Given the description of an element on the screen output the (x, y) to click on. 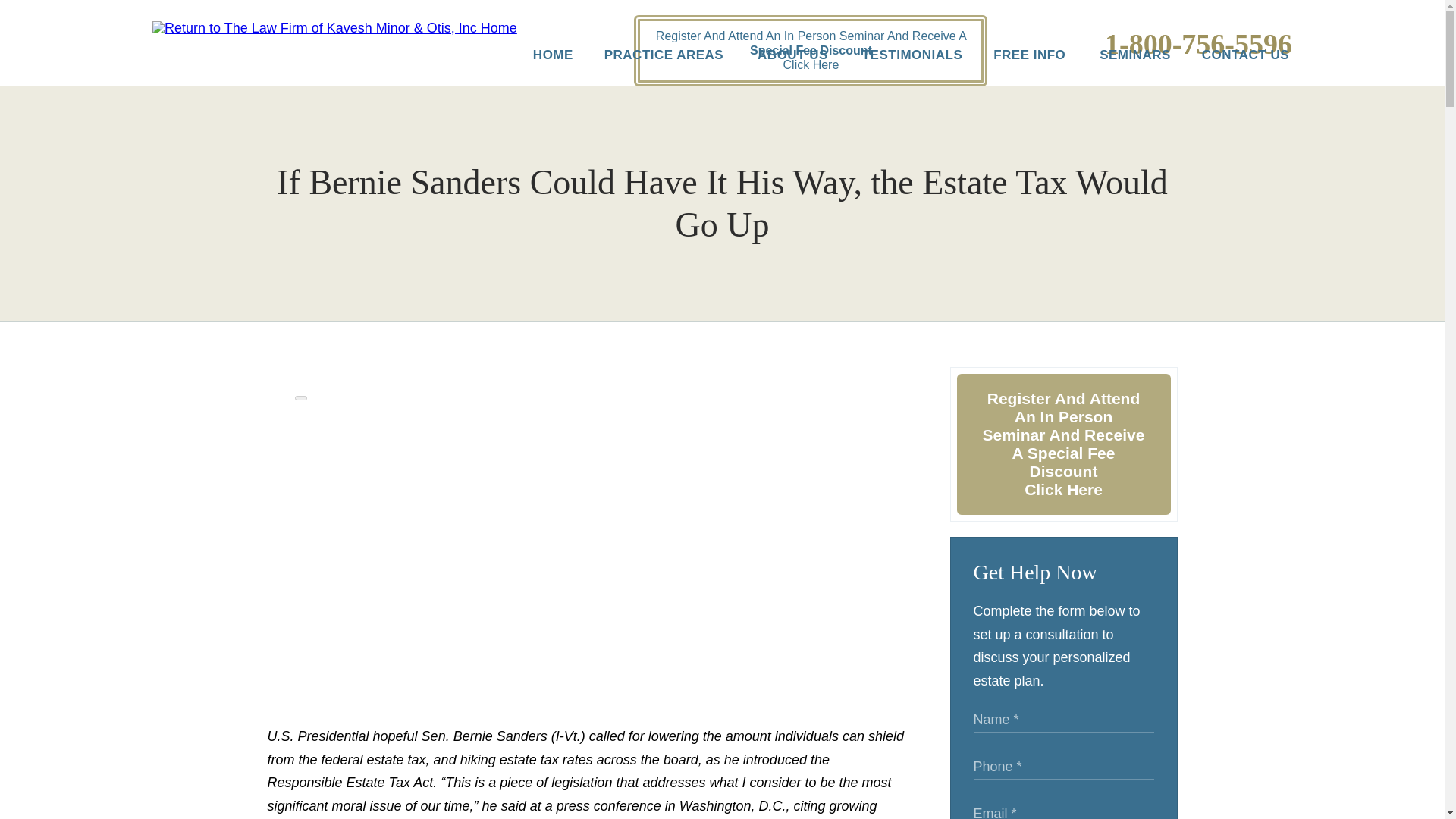
SEMINARS (1119, 61)
PRACTICE AREAS (649, 61)
ABOUT US (778, 61)
TESTIMONIALS (896, 61)
FREE INFO (1015, 61)
HOME (537, 61)
CONTACT US (1231, 61)
